Given the description of an element on the screen output the (x, y) to click on. 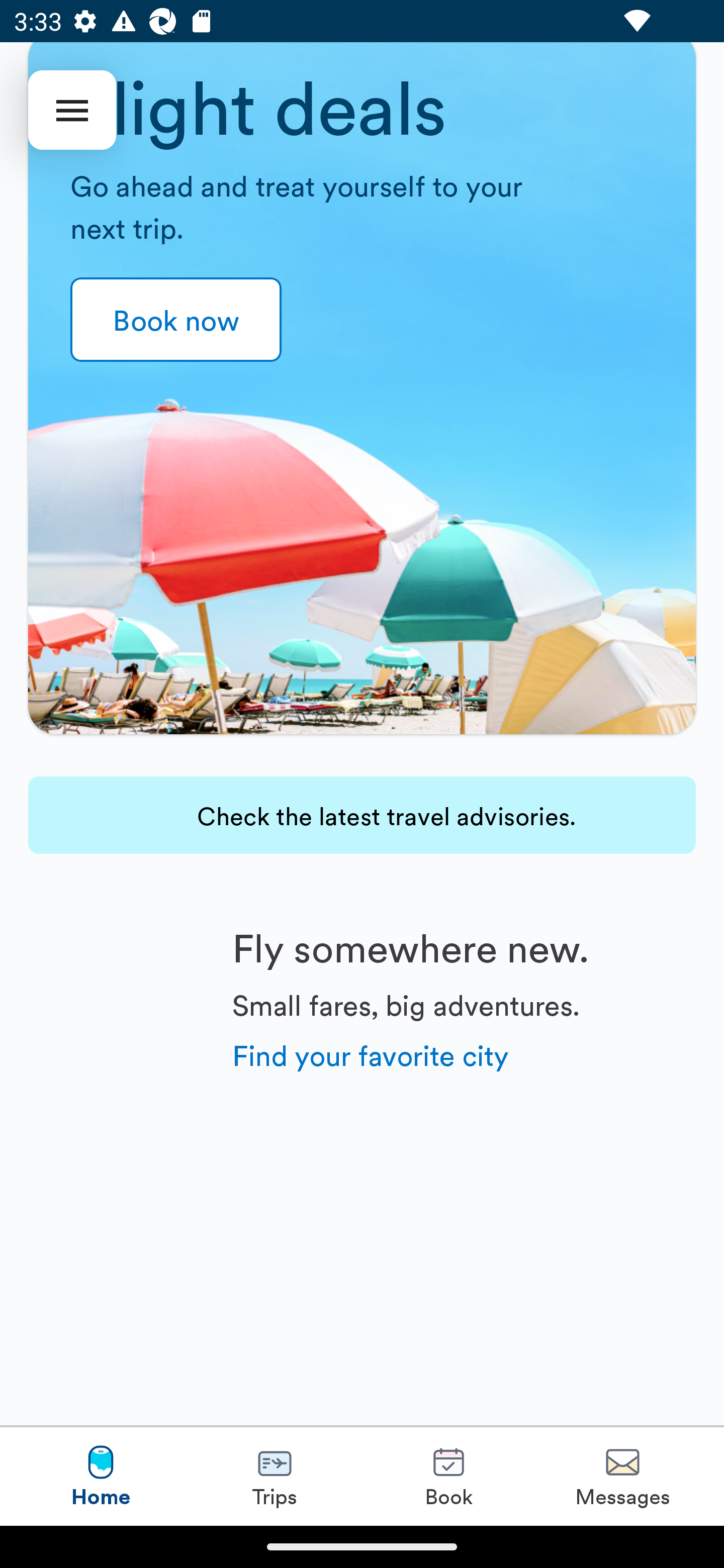
Book now (175, 319)
Check the latest travel advisories. (361, 815)
Find your favorite city (370, 1054)
Home (100, 1475)
Trips (275, 1475)
Book (448, 1475)
Messages (622, 1475)
